Given the description of an element on the screen output the (x, y) to click on. 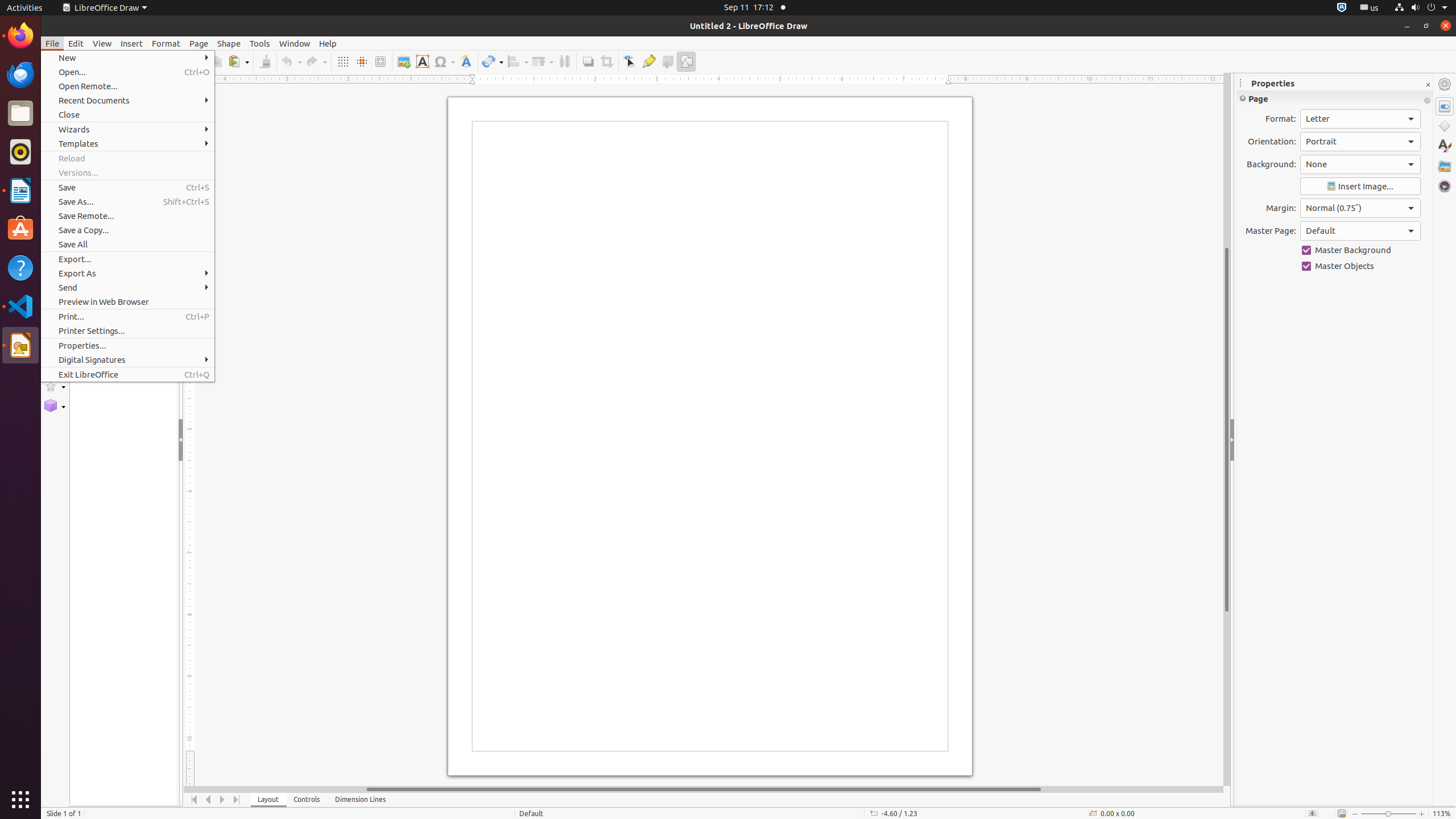
Draw Functions Element type: toggle-button (685, 61)
Edit Element type: menu (75, 43)
Properties Element type: radio-button (1444, 106)
Close Element type: menu-item (127, 114)
File Element type: menu (51, 43)
